Given the description of an element on the screen output the (x, y) to click on. 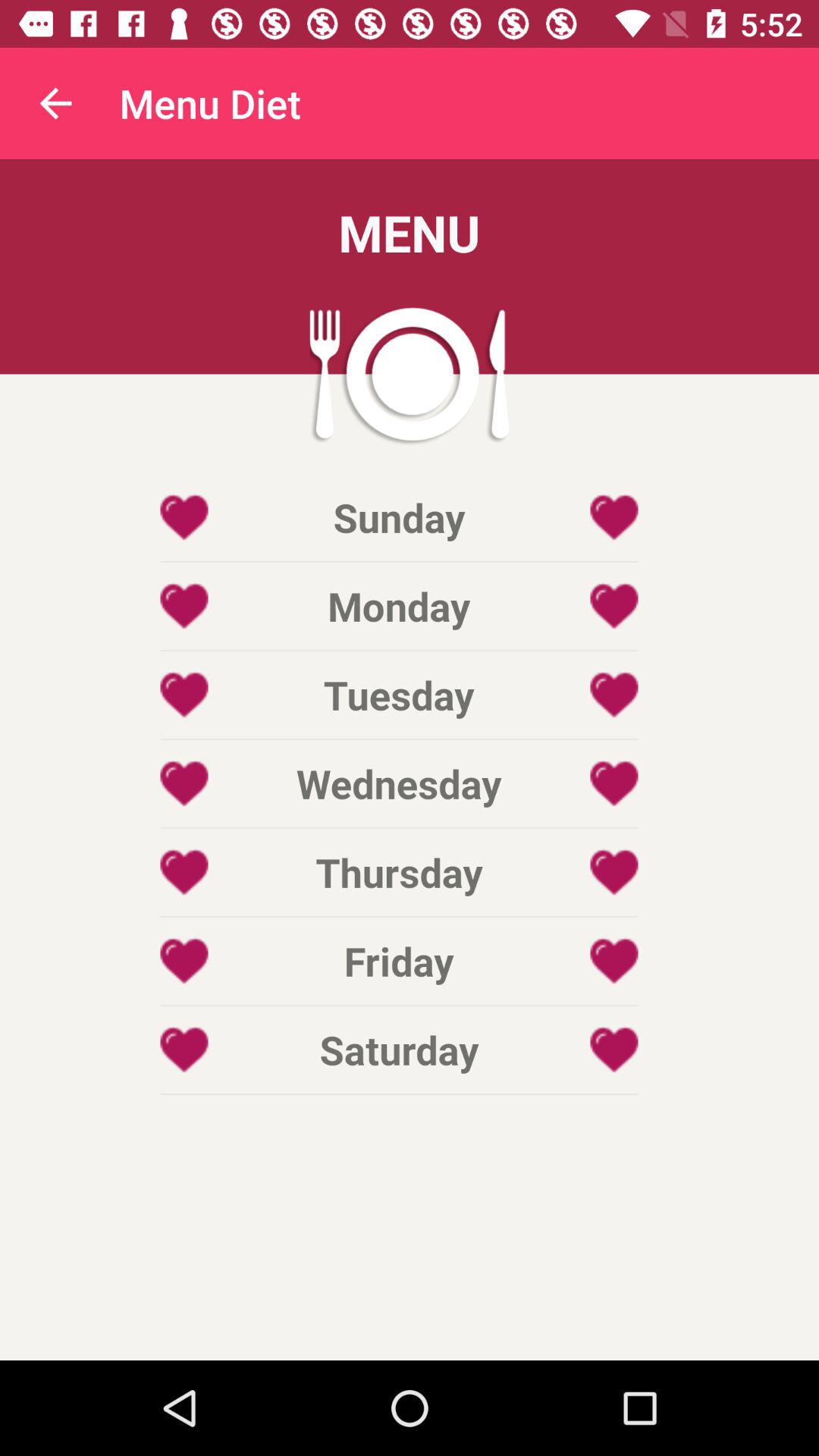
open wednesday item (398, 783)
